Given the description of an element on the screen output the (x, y) to click on. 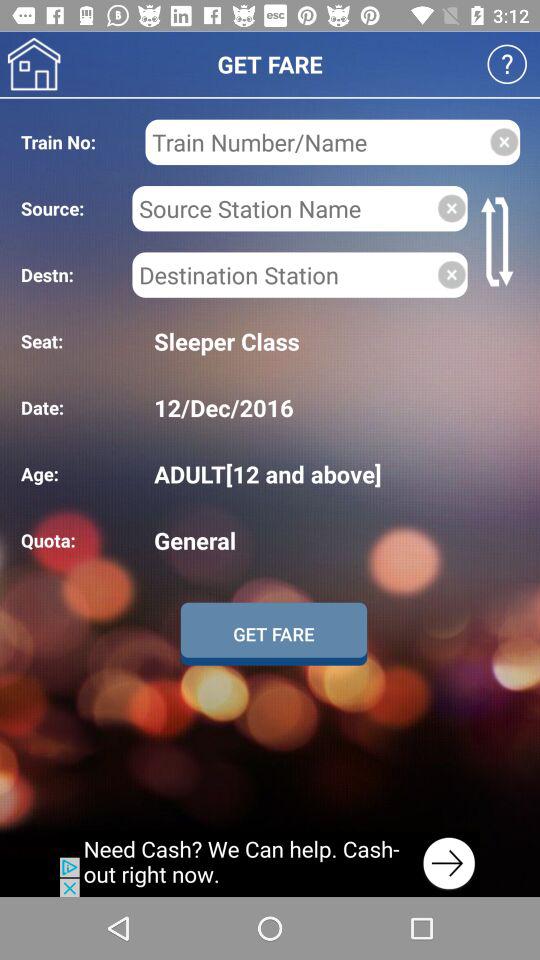
click close icon (451, 208)
